Given the description of an element on the screen output the (x, y) to click on. 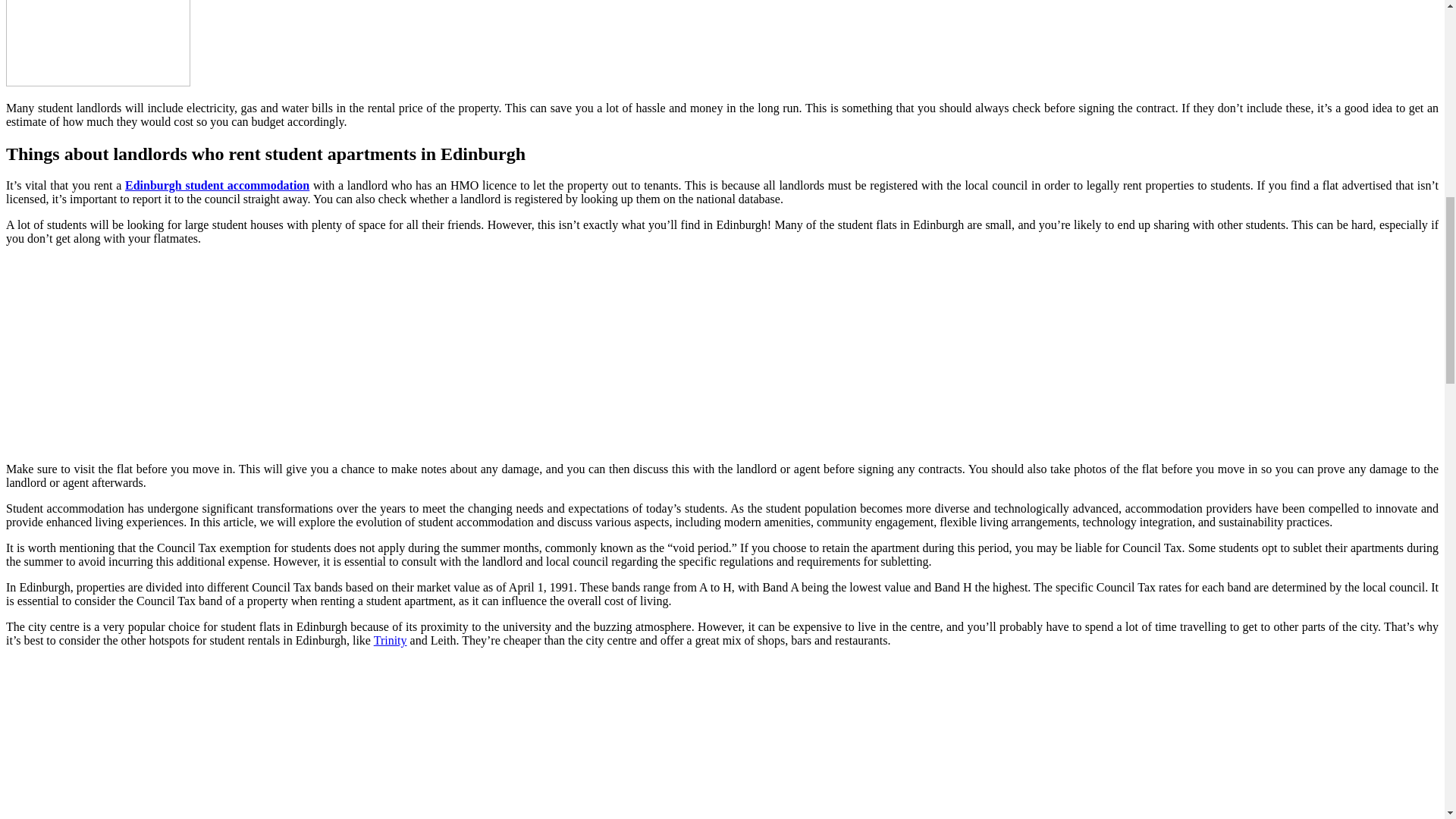
Trinity (390, 640)
Edinburgh student accommodation (216, 185)
